Given the description of an element on the screen output the (x, y) to click on. 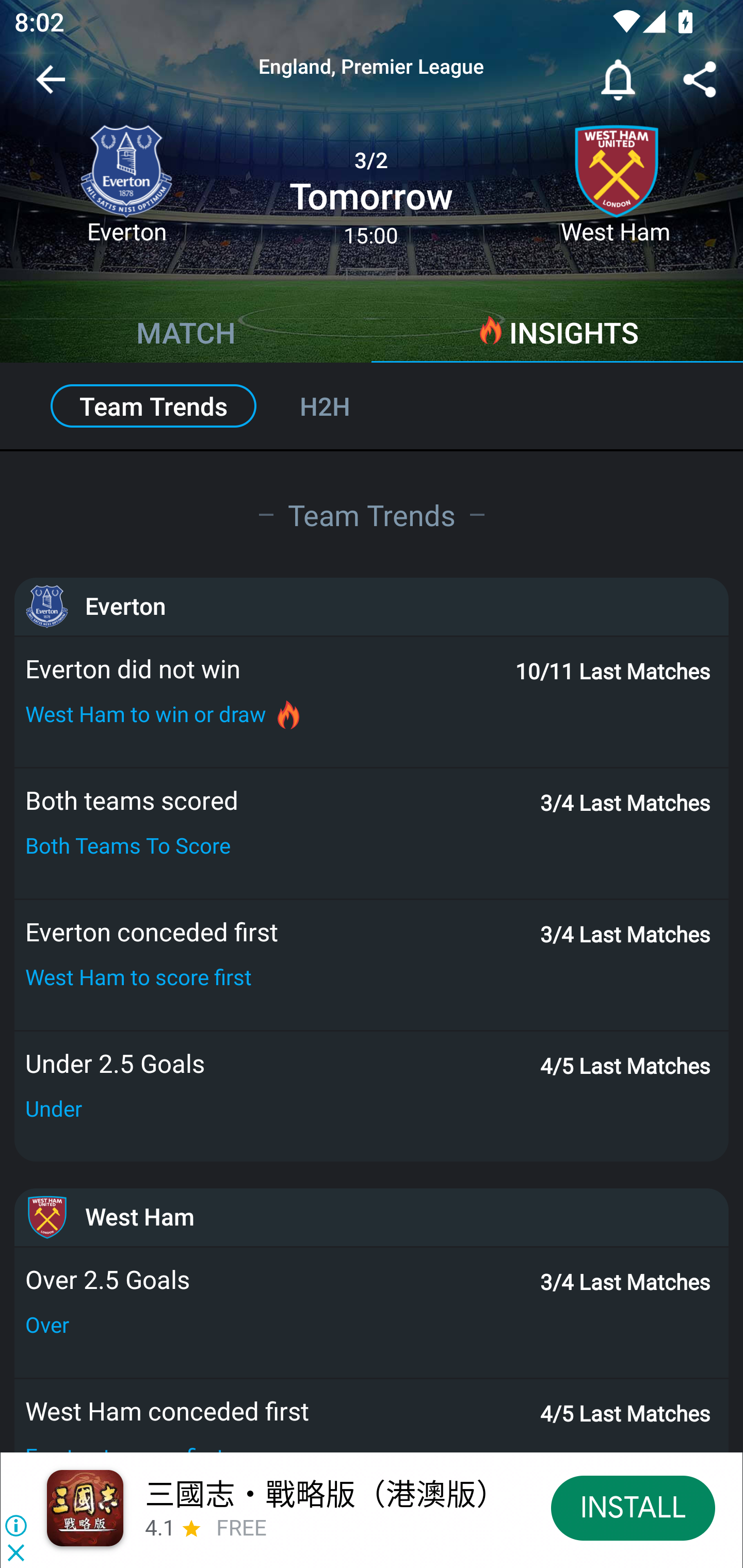
Navigate up (50, 86)
England, Premier League (371, 66)
Share (699, 82)
Everton (126, 192)
West Ham (616, 192)
MATCH (185, 335)
INSIGHTS (557, 335)
H2H (346, 406)
Team Trends (371, 514)
Everton (371, 606)
Under 2.5 Goals 4/5 Last Matches Under (371, 1096)
West Ham (371, 1217)
Over 2.5 Goals 3/4 Last Matches Over (371, 1313)
三國志・戰略版（港澳版） (324, 1493)
INSTALL (632, 1507)
